Given the description of an element on the screen output the (x, y) to click on. 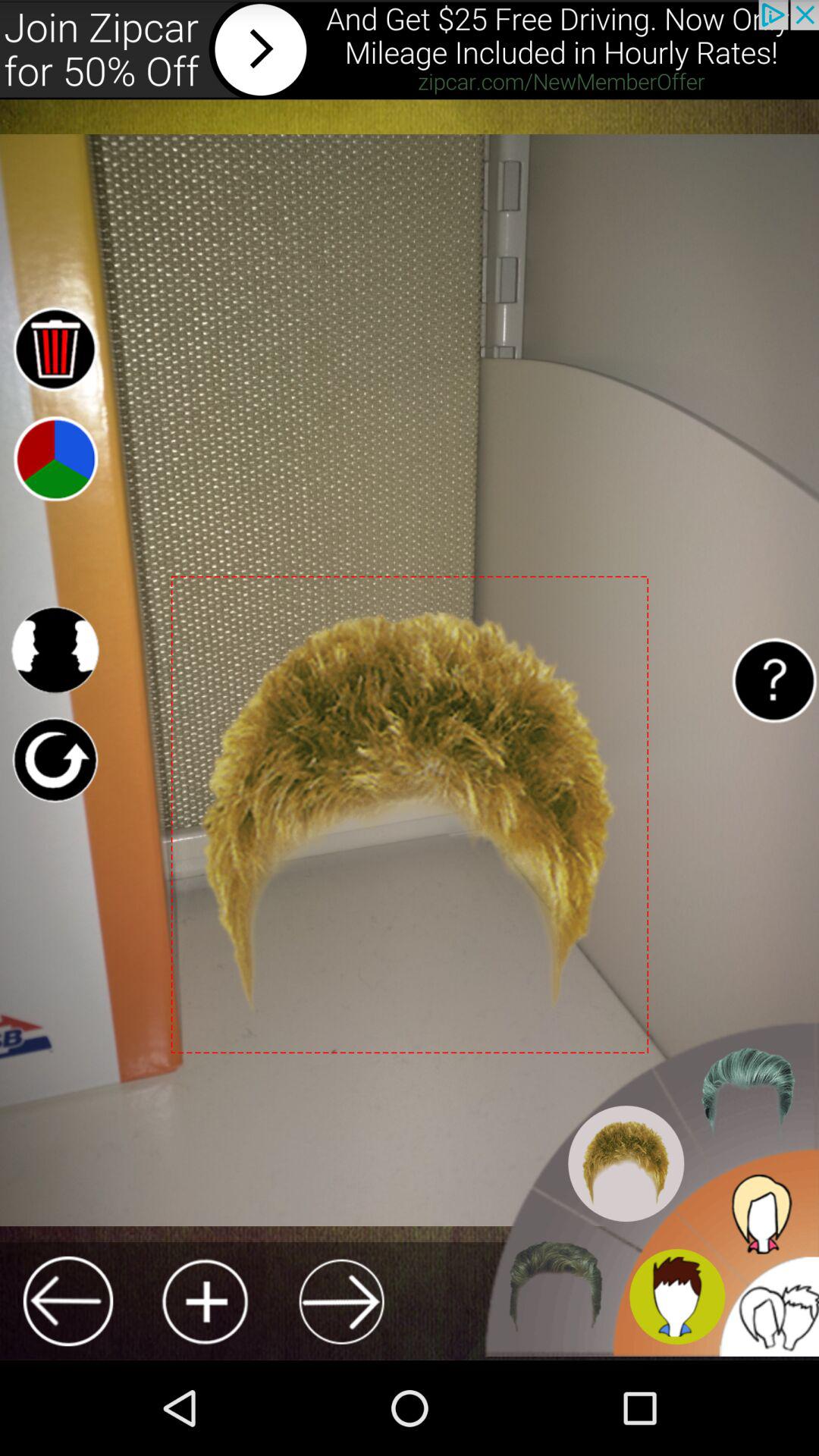
add hair style (204, 1301)
